Given the description of an element on the screen output the (x, y) to click on. 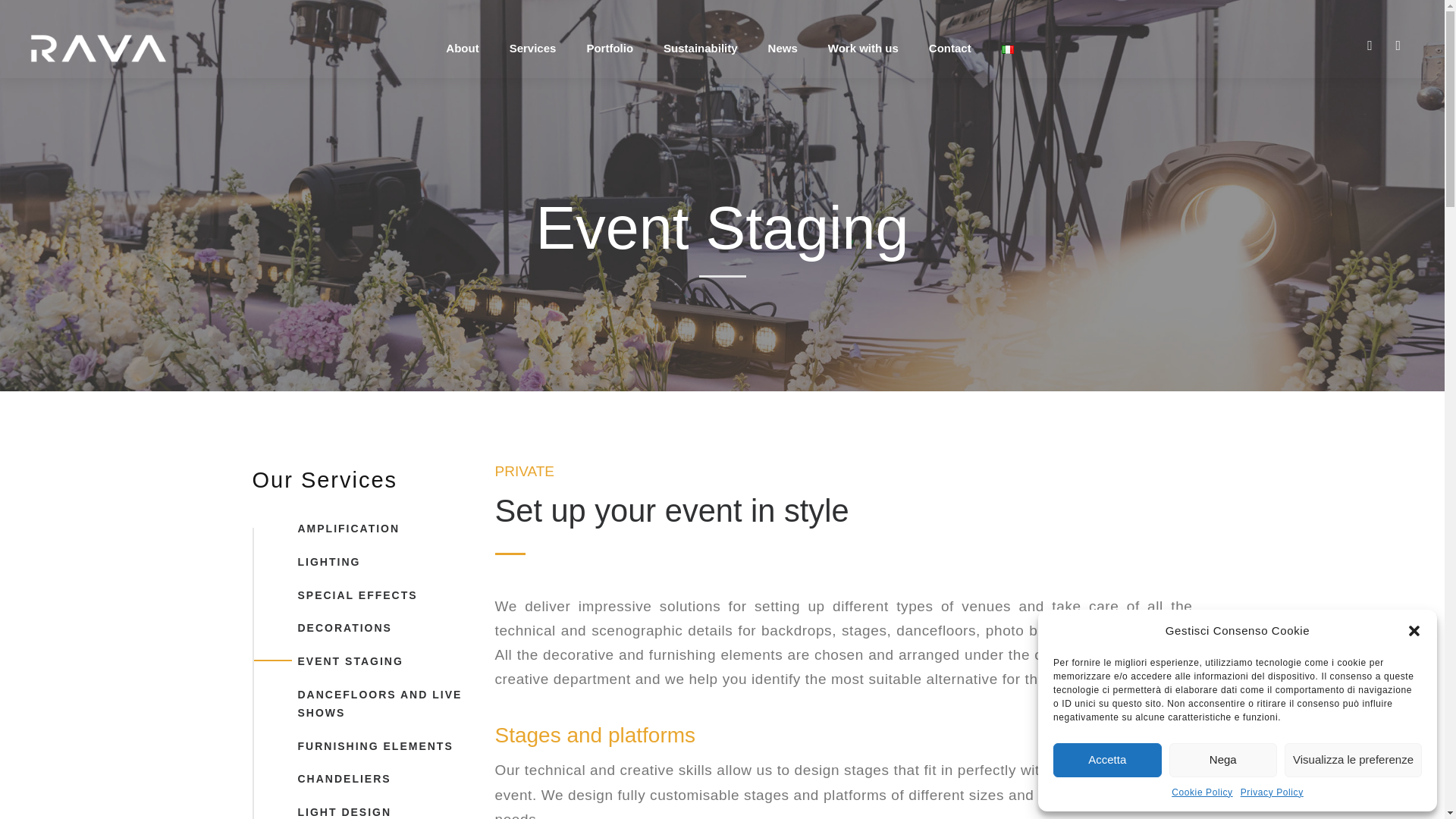
Services (532, 57)
Cookie Policy (1202, 792)
LIGHTING (370, 562)
SPECIAL EFFECTS (370, 596)
DANCEFLOORS AND LIVE SHOWS (370, 704)
Sustainability (700, 57)
EVENT STAGING (370, 661)
Accetta (1106, 759)
DECORATIONS (370, 628)
CHANDELIERS (370, 779)
Privacy Policy (1271, 792)
AMPLIFICATION (370, 529)
Visualizza le preferenze (1353, 759)
logo-rava-nav (98, 48)
Nega (1223, 759)
